Given the description of an element on the screen output the (x, y) to click on. 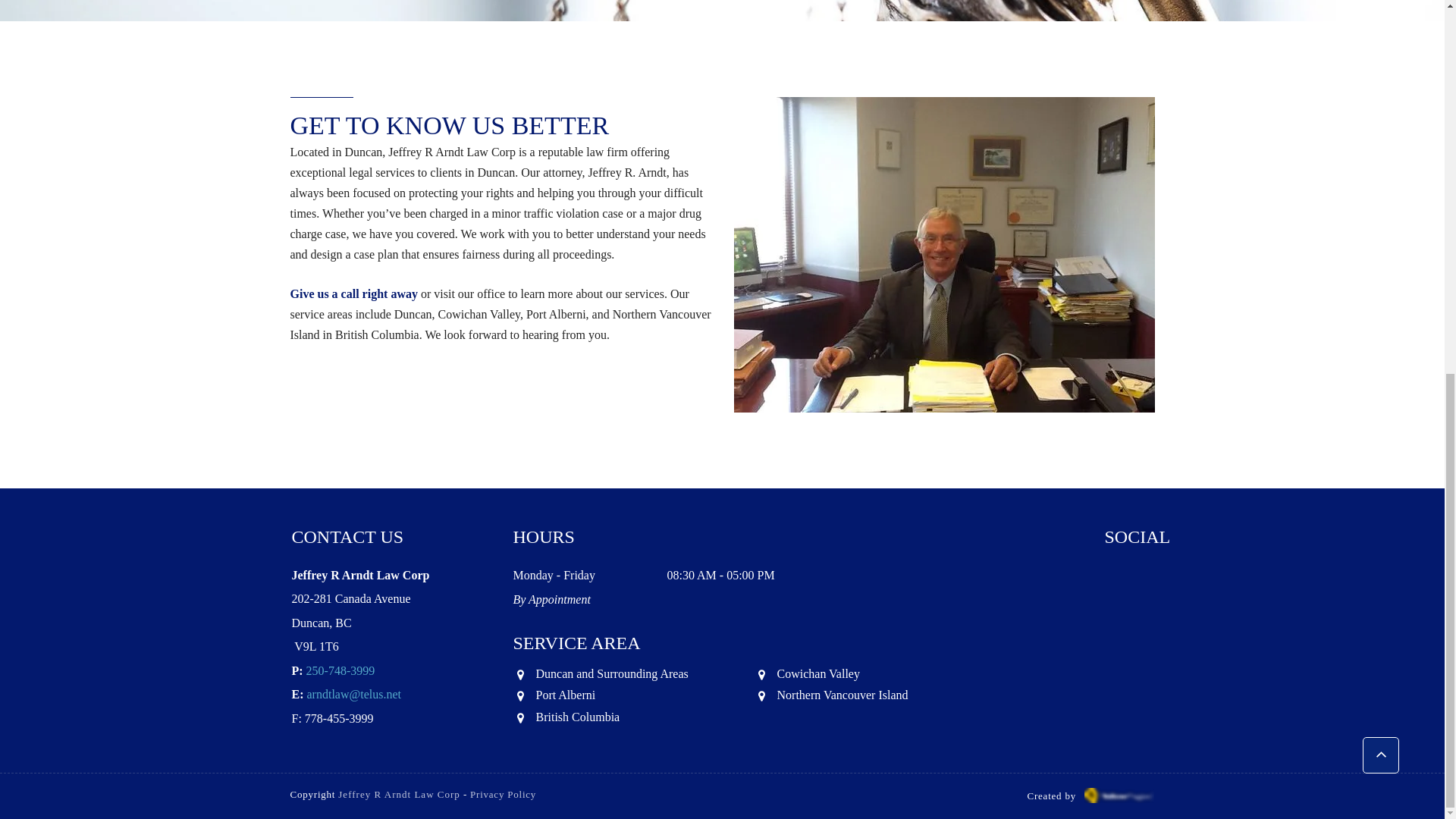
Jeffrey R Arndt Law Corp (398, 794)
Privacy Policy (502, 795)
250-748-3999 (340, 672)
Give us a call right away (352, 295)
